Given the description of an element on the screen output the (x, y) to click on. 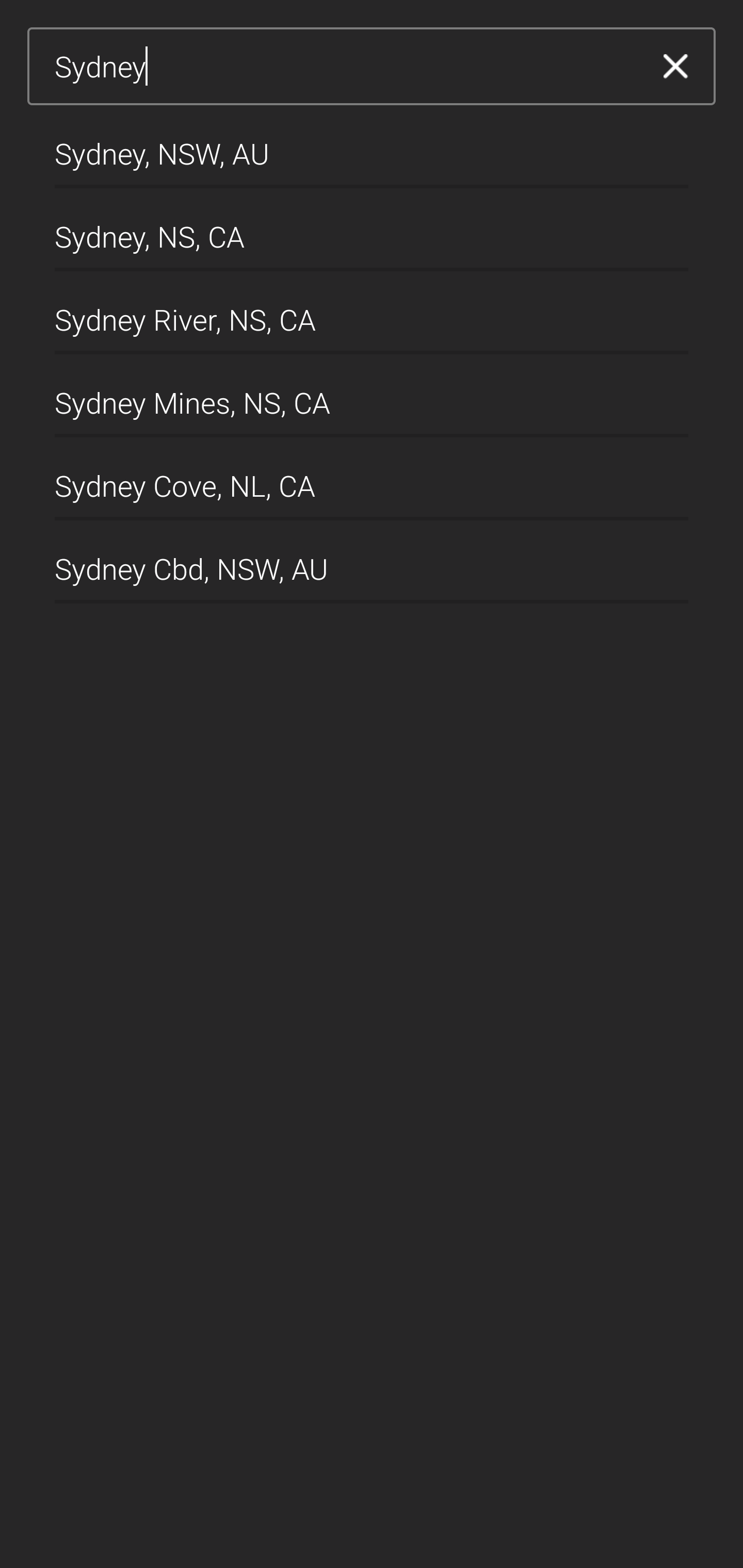
Sydney (345, 66)
Sydney, NSW, AU (371, 146)
Sydney, NS, CA (371, 229)
Sydney River, NS, CA (371, 312)
Sydney Mines, NS, CA (371, 395)
Sydney Cove, NL, CA (371, 478)
Sydney Cbd, NSW, AU (371, 561)
